Given the description of an element on the screen output the (x, y) to click on. 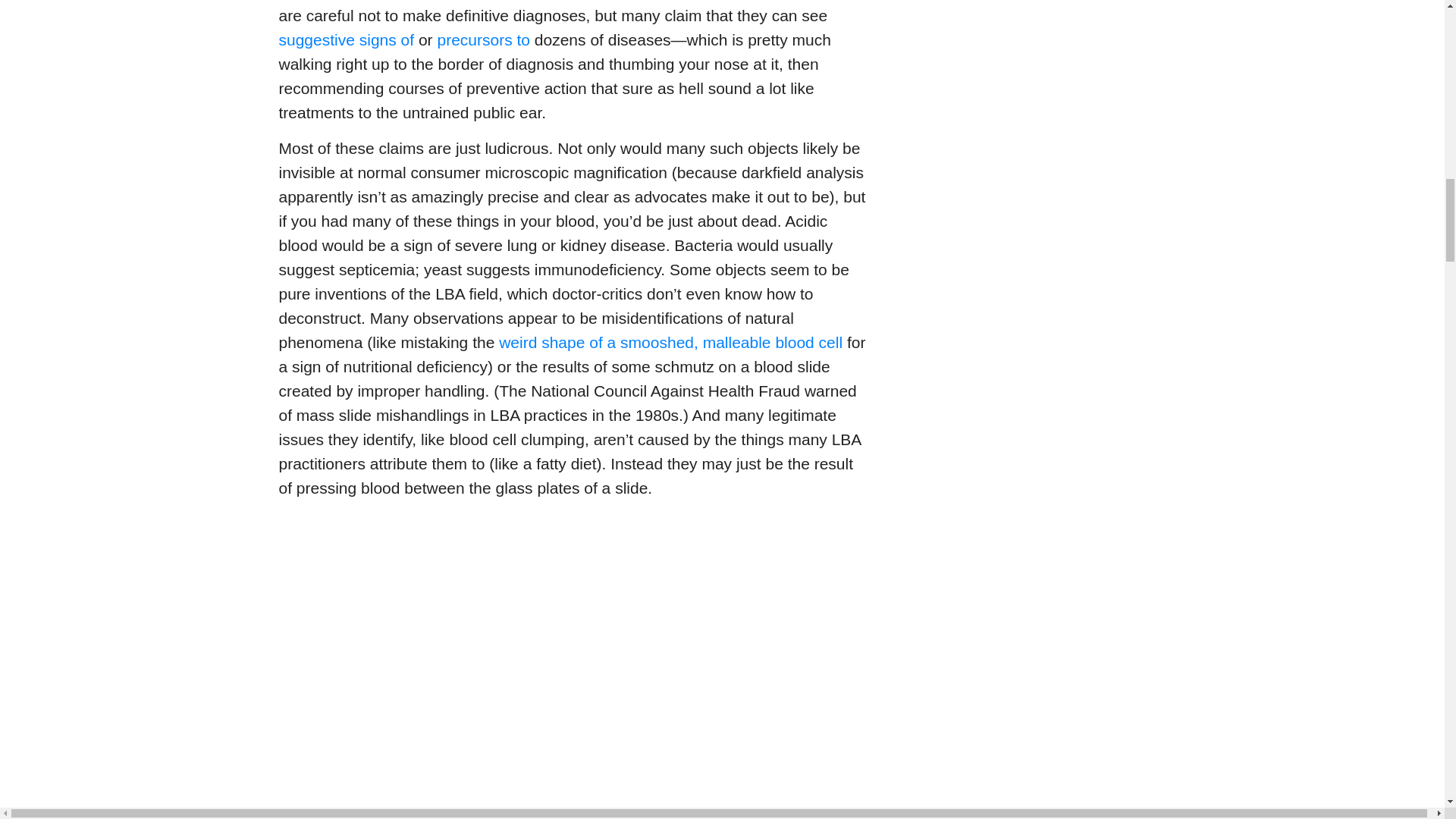
suggestive signs of (346, 39)
precursors to (482, 39)
weird shape of a smooshed, malleable blood cell (671, 342)
